Given the description of an element on the screen output the (x, y) to click on. 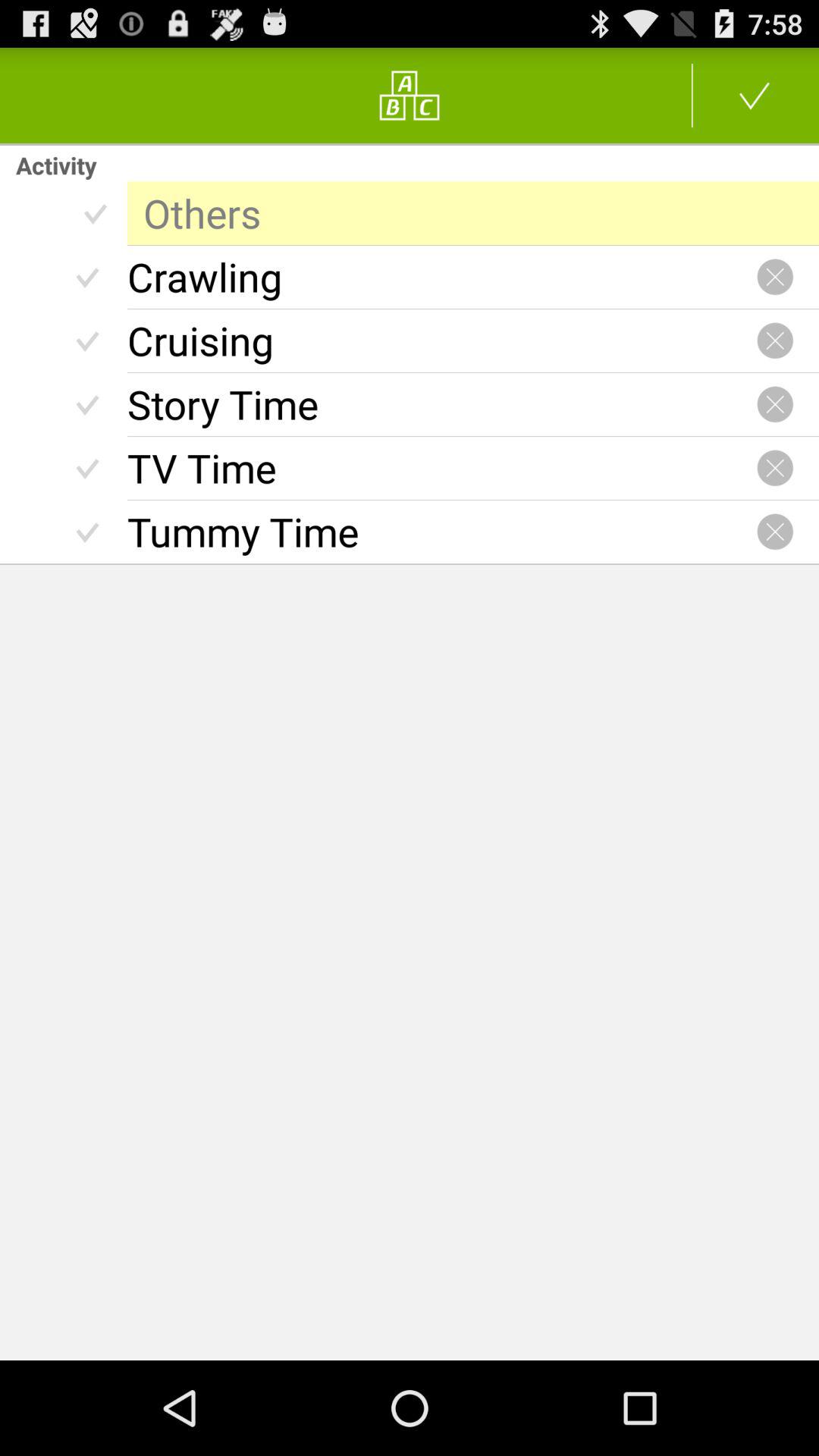
tv time (775, 467)
